Given the description of an element on the screen output the (x, y) to click on. 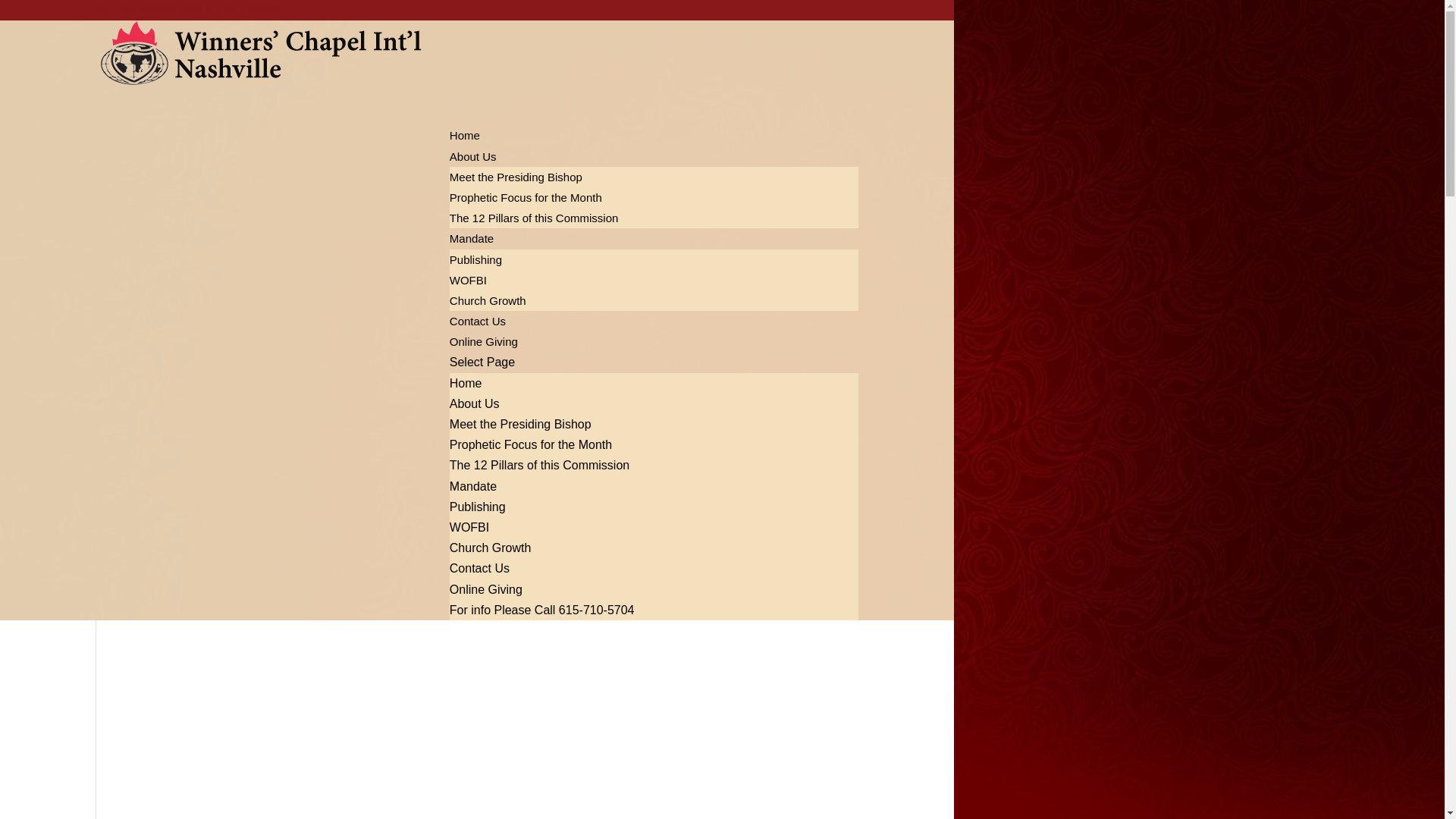
WOFBI (467, 279)
For info Please Call 615-710-5704 (189, 9)
The 12 Pillars of this Commission (538, 464)
Publishing (477, 506)
The 12 Pillars of this Commission (533, 217)
For info Please Call 615-710-5704 (541, 609)
Prophetic Focus for the Month (530, 444)
Contact Us (477, 336)
Church Growth (487, 300)
Meet the Presiding Bishop (515, 176)
About Us (474, 403)
Prophetic Focus for the Month (525, 196)
Meet the Presiding Bishop (520, 423)
Contact Us (479, 567)
Church Growth (490, 547)
